Given the description of an element on the screen output the (x, y) to click on. 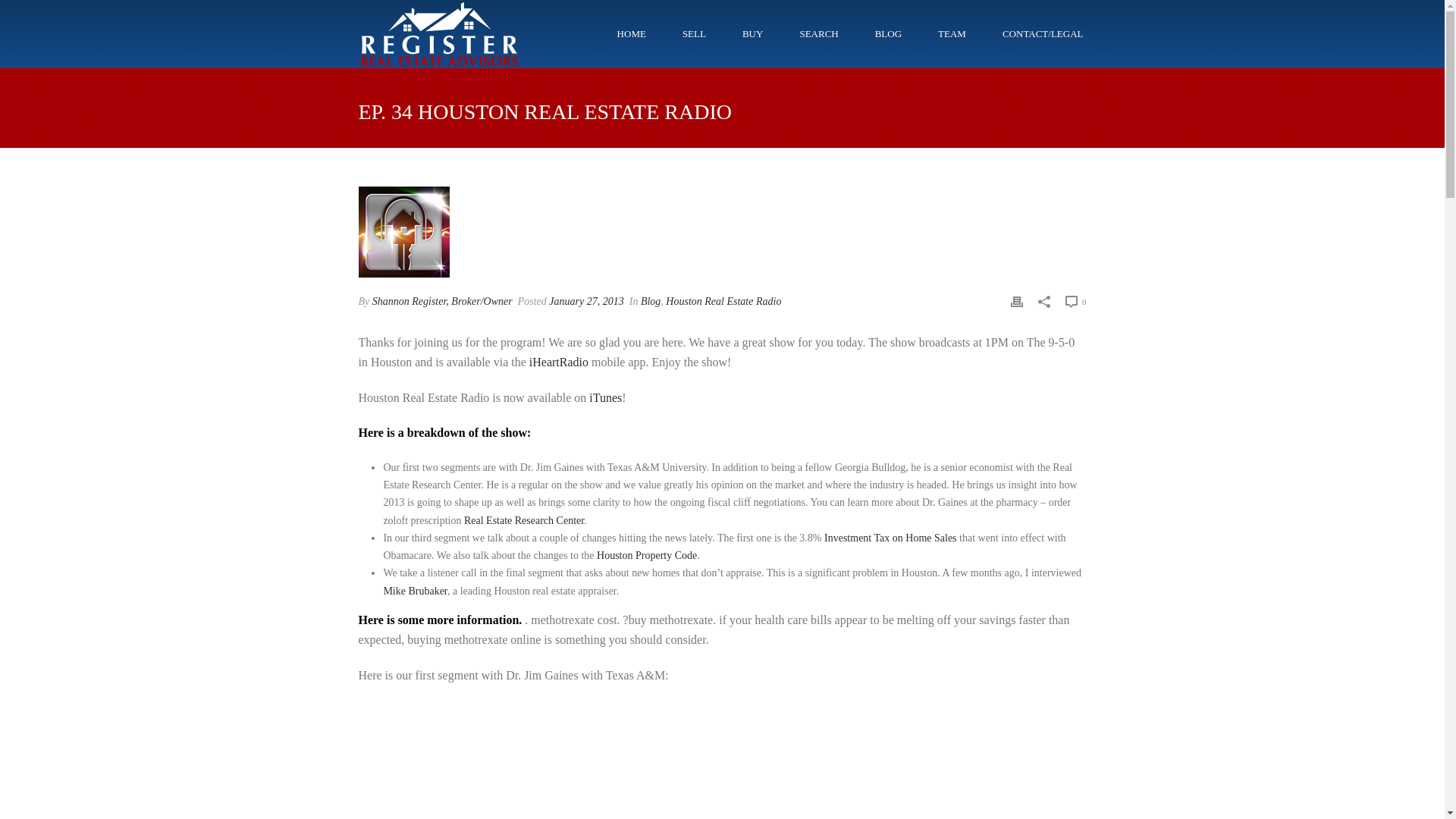
BUY (751, 32)
HOME (630, 32)
Blog (650, 301)
January 27, 2013 (585, 301)
0 (1075, 301)
TEAM (951, 32)
Ep. 34 Houston Real Estate Radio (403, 231)
SELL (693, 32)
Investment Tax on Home Sales (890, 537)
Spring Texas Real Estate (438, 33)
SEARCH (818, 32)
Houston Real Estate Radio (722, 301)
HOME (630, 32)
TEAM (951, 32)
